Given the description of an element on the screen output the (x, y) to click on. 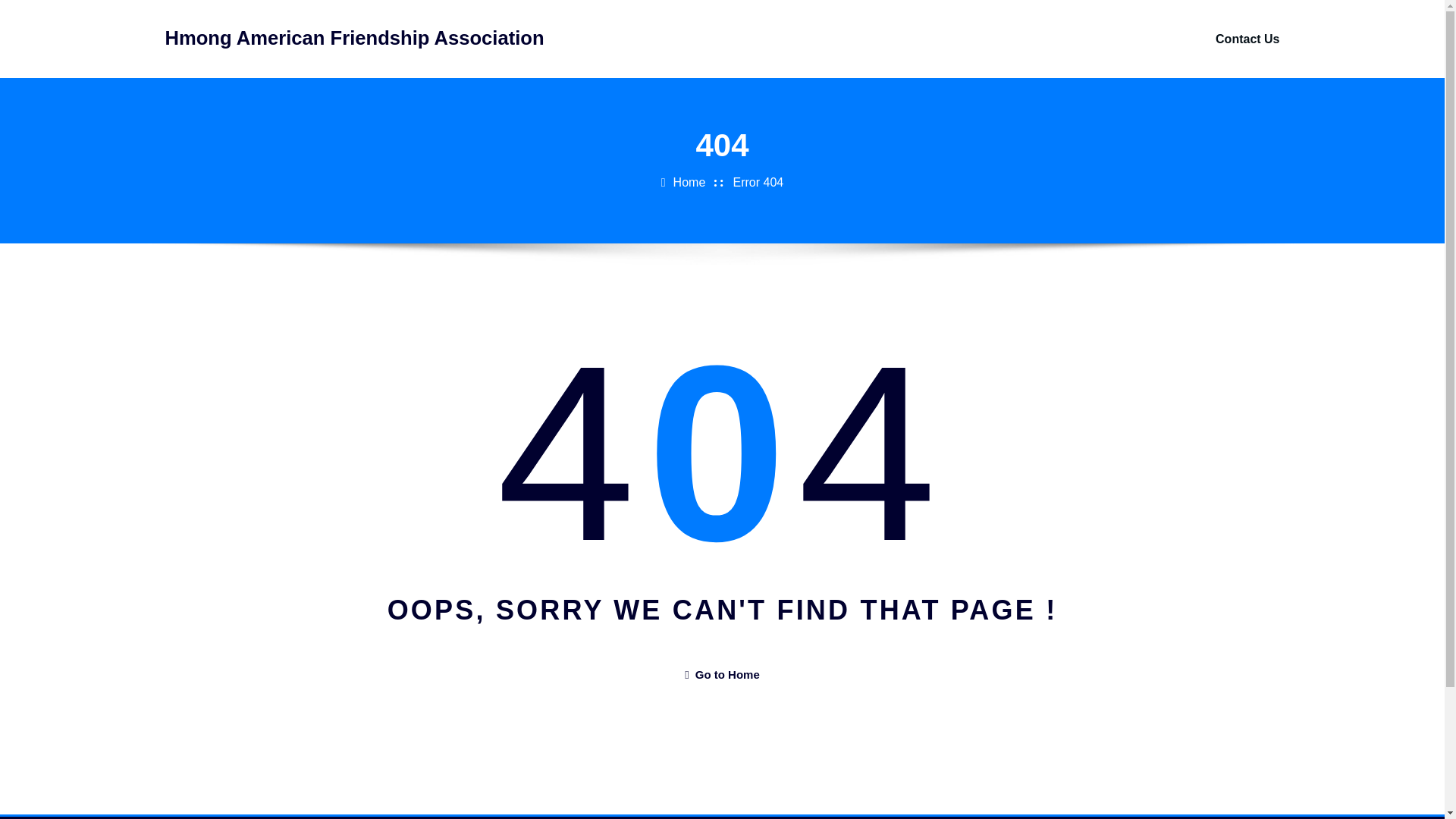
Error 404 (758, 182)
Home (689, 182)
Hmong American Friendship Association (354, 37)
Go to Home (721, 674)
Contact Us (1247, 38)
